Given the description of an element on the screen output the (x, y) to click on. 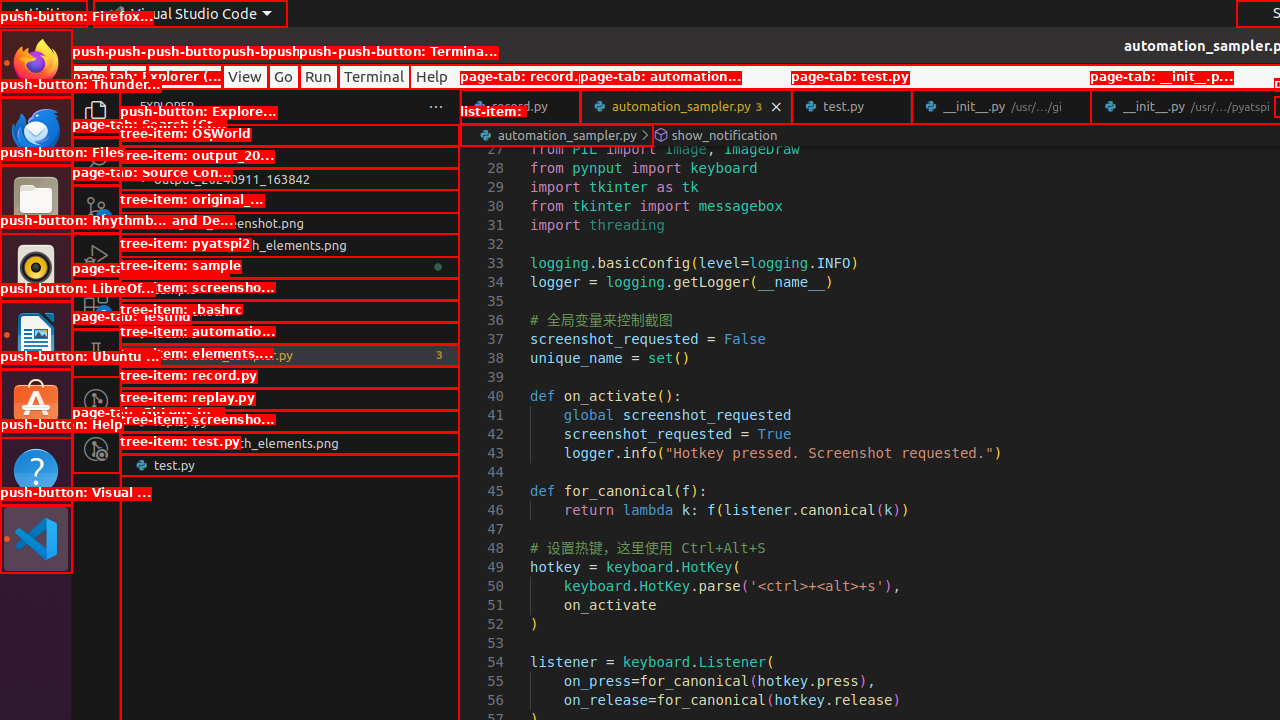
test.py Element type: page-tab (851, 106)
GitLens Inspect Element type: page-tab (96, 449)
Firefox Web Browser Element type: push-button (36, 63)
automation_sampler.py Element type: page-tab (686, 106)
